Given the description of an element on the screen output the (x, y) to click on. 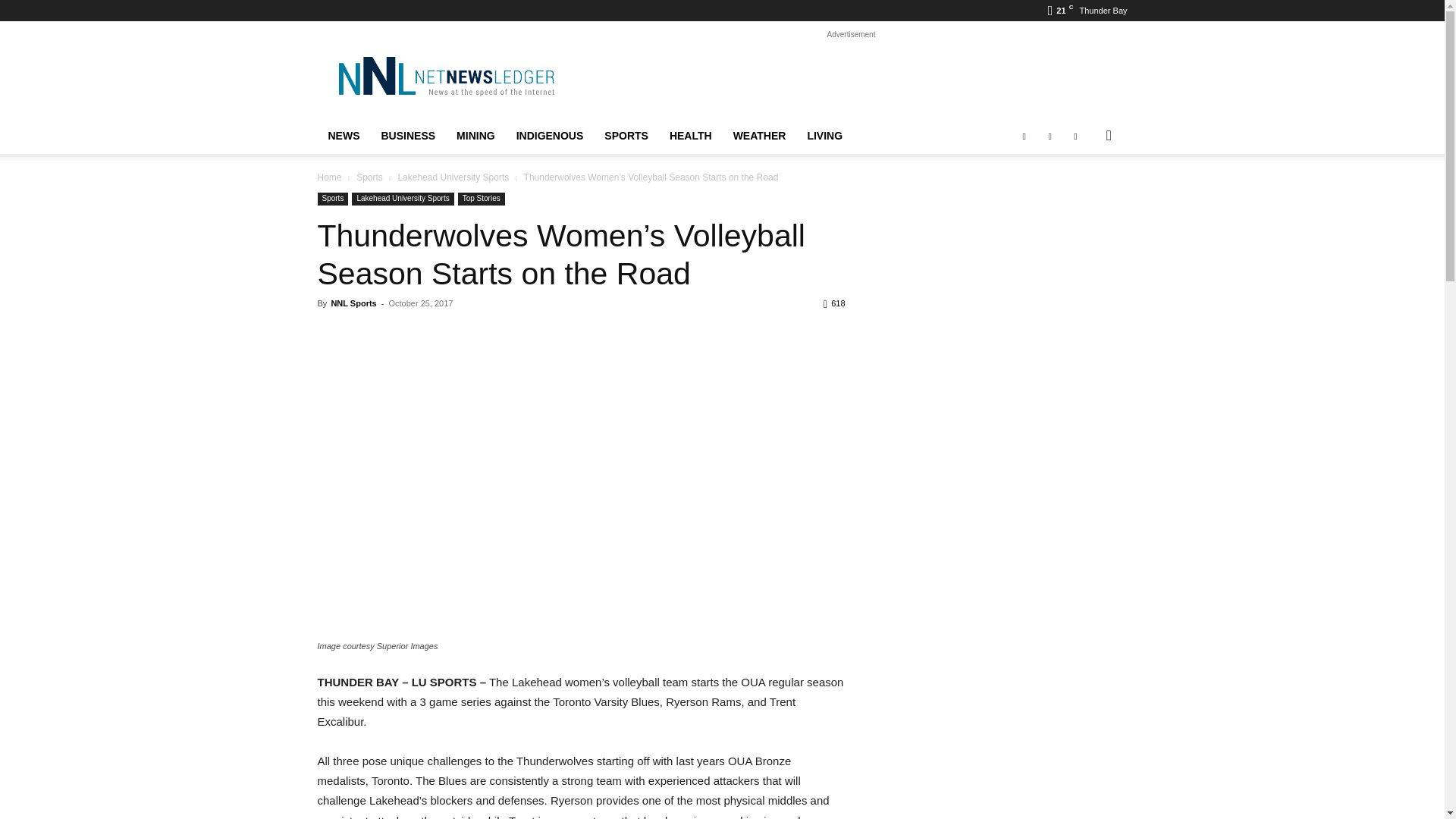
View all posts in Sports (369, 176)
View all posts in Lakehead University Sports (452, 176)
NetNewsLedger (445, 76)
